Given the description of an element on the screen output the (x, y) to click on. 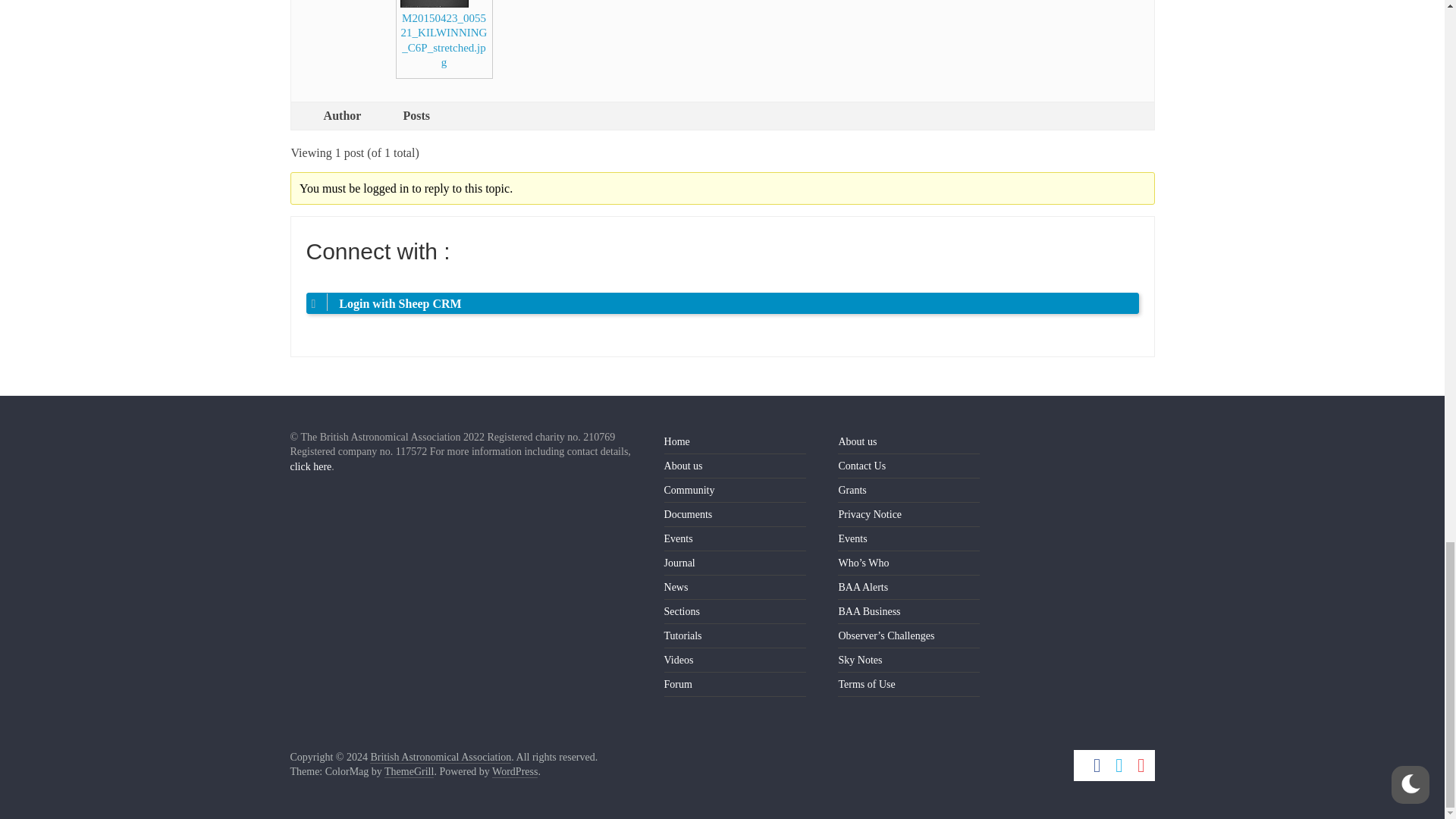
ThemeGrill (408, 771)
WordPress (514, 771)
British Astronomical Association (440, 757)
